Given the description of an element on the screen output the (x, y) to click on. 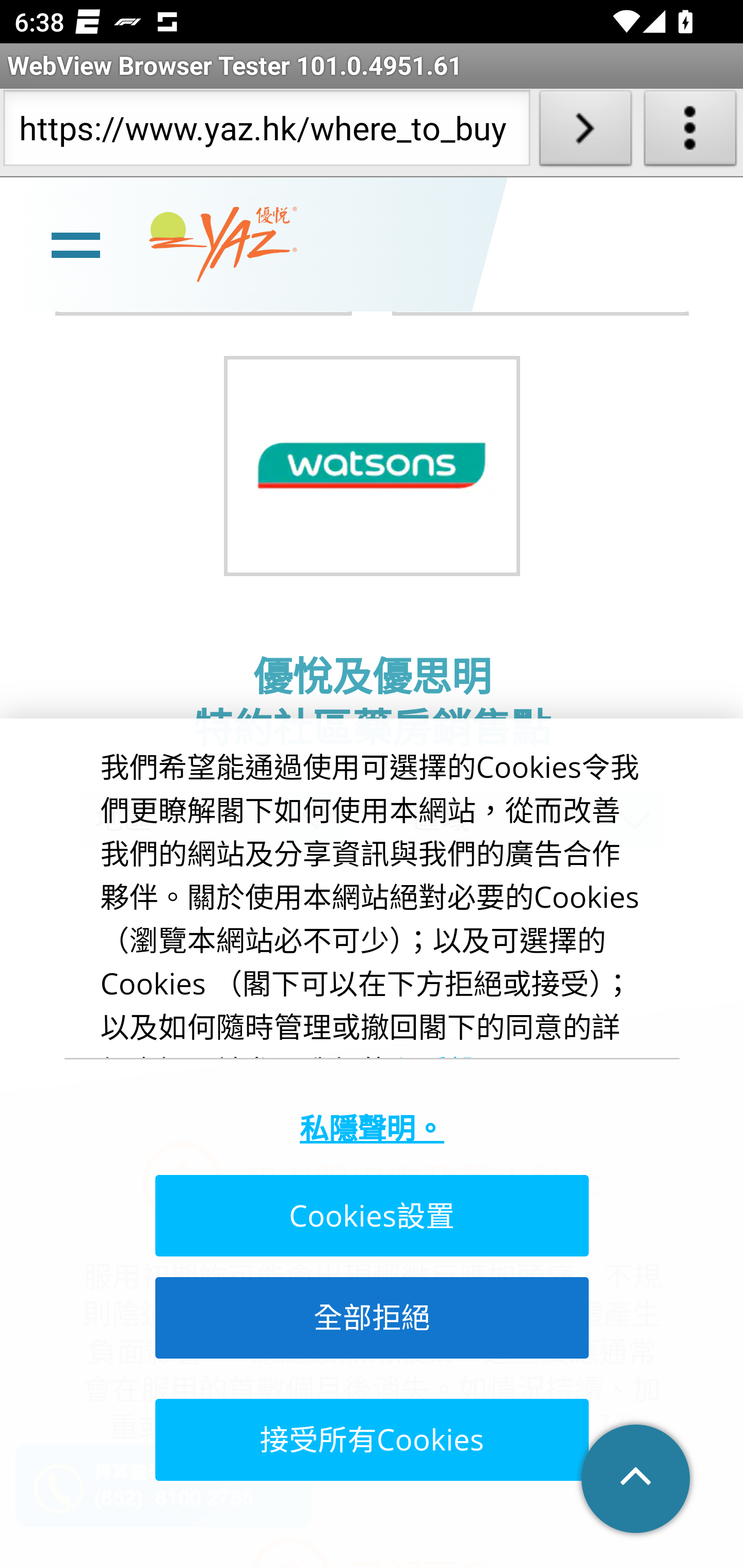
https://www.yaz.hk/where_to_buy (266, 132)
Load URL (585, 132)
About WebView (690, 132)
www.yaz (222, 244)
line Toggle burger menu (75, 245)
BP_204260 (371, 467)
Cookies設置 (370, 1217)
全部拒絕 (370, 1318)
接受所有Cookies (370, 1439)
 (636, 1480)
